Given the description of an element on the screen output the (x, y) to click on. 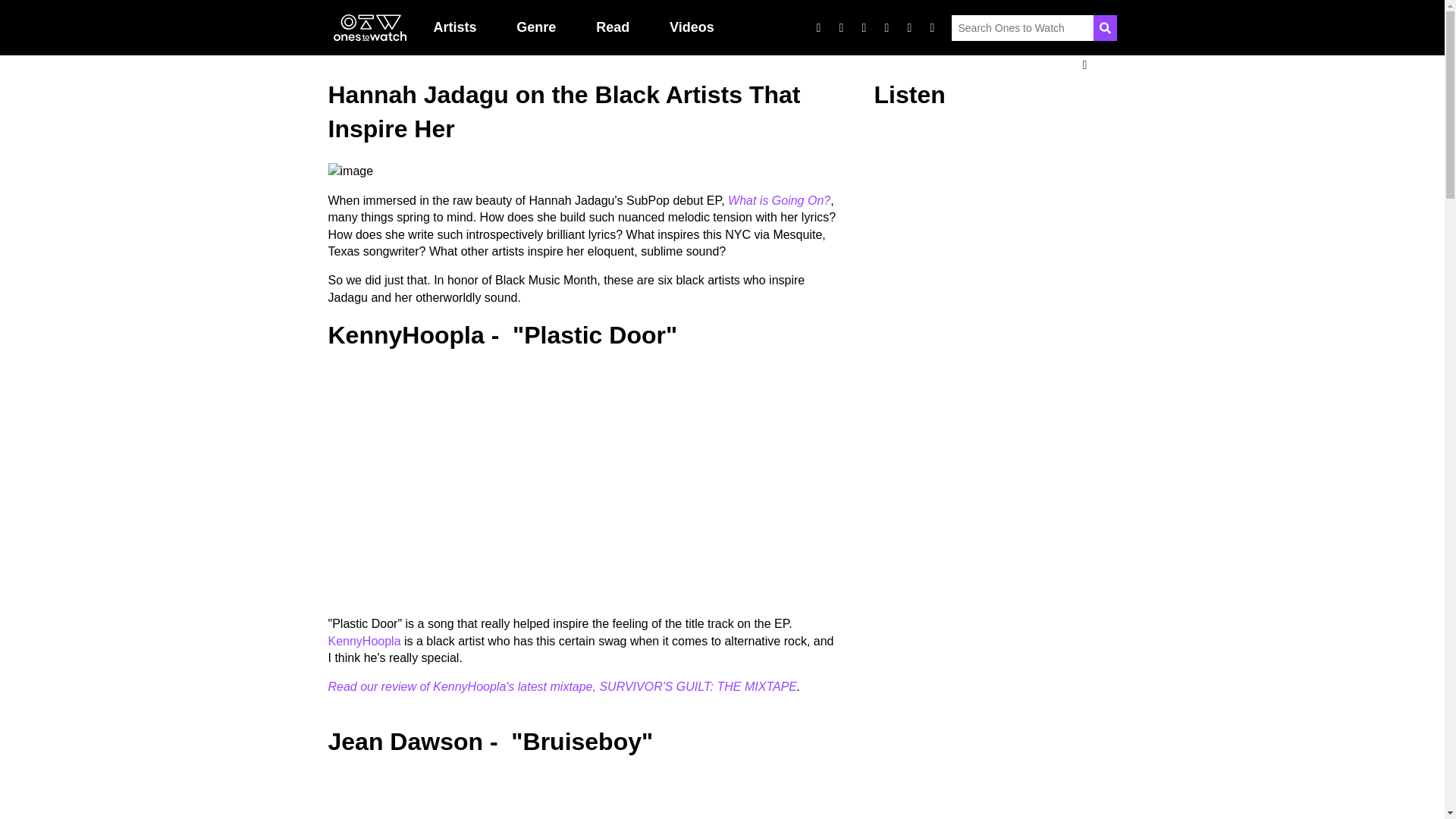
Artists (455, 27)
Ones2Watch Home (369, 27)
What is Going On? (778, 200)
Videos (692, 27)
